Given the description of an element on the screen output the (x, y) to click on. 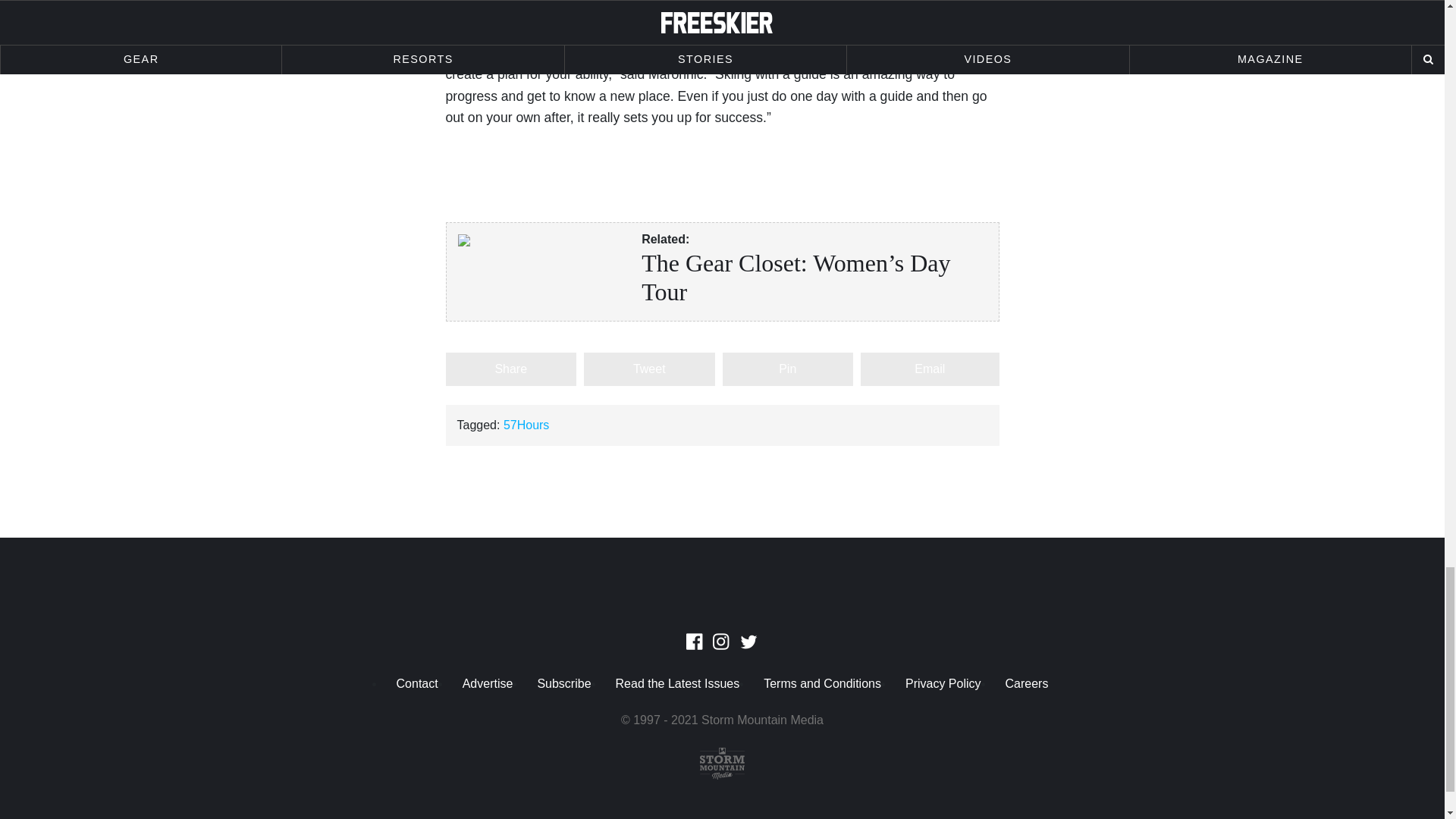
Privacy Policy (942, 684)
Careers (1026, 684)
Privacy Policy (942, 684)
Subscribe (563, 684)
Terms and Conditions (822, 684)
Advertise (487, 684)
Contact (416, 684)
Contact (416, 684)
Read the Latest Issues (678, 684)
Terms and Conditions (822, 684)
Advertise (487, 684)
Subscribe (563, 684)
57Hours (525, 424)
Read the Latest Issues (678, 684)
